Given the description of an element on the screen output the (x, y) to click on. 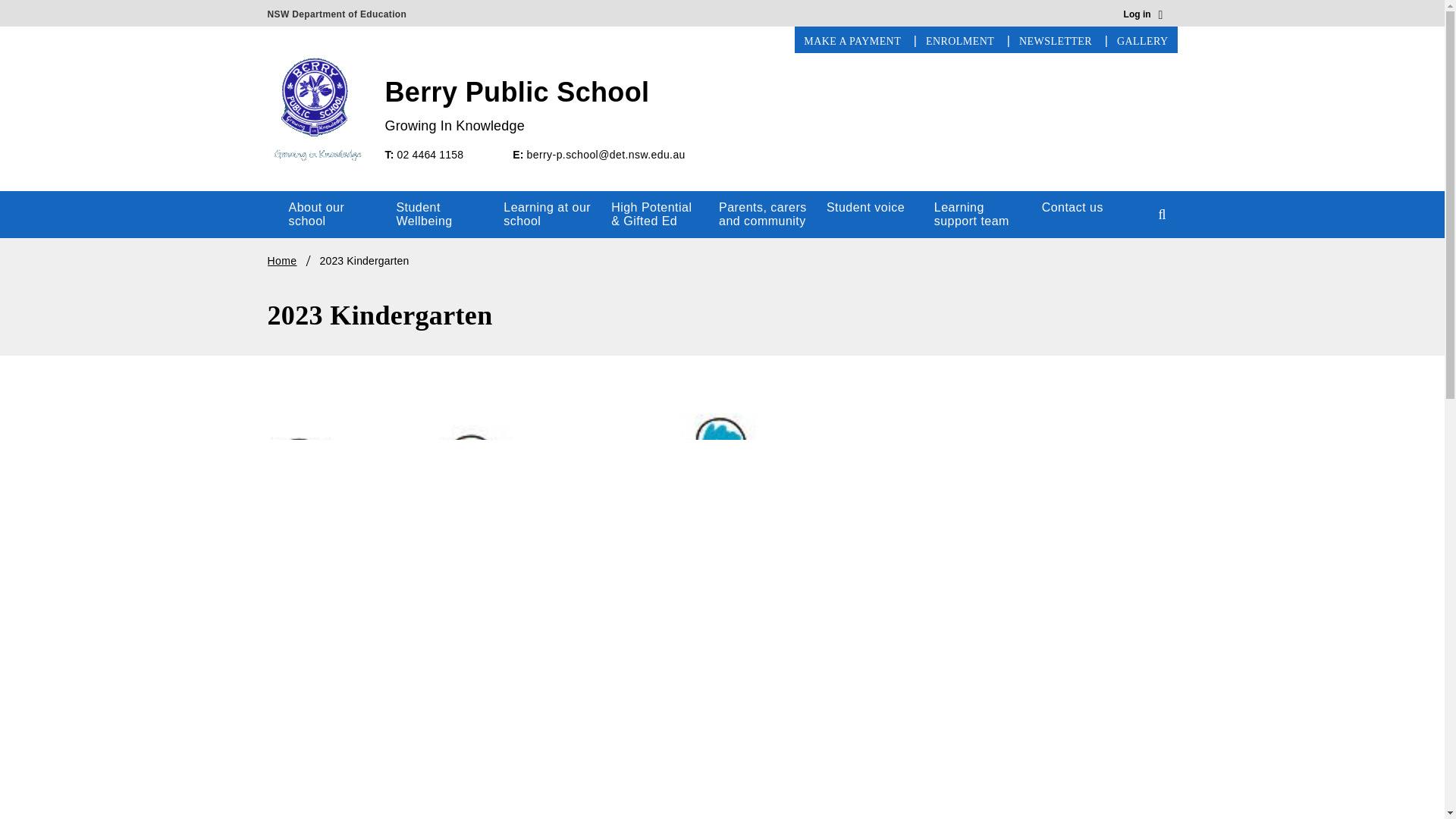
Log in (1143, 14)
NSW Department of Education (336, 10)
